Given the description of an element on the screen output the (x, y) to click on. 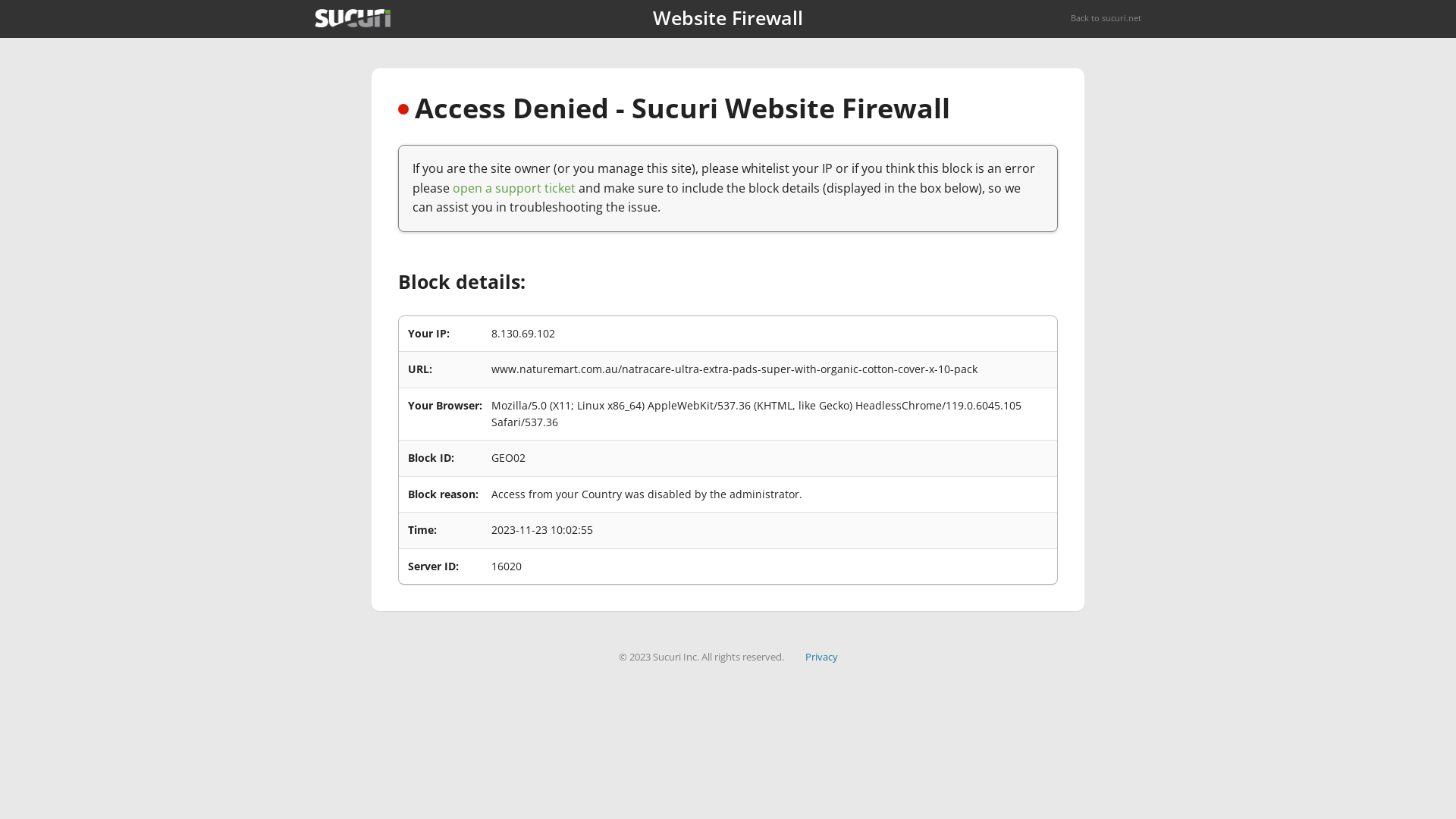
Back to sucuri.net Element type: text (1105, 18)
Privacy Element type: text (821, 656)
open a support ticket Element type: text (513, 187)
